Given the description of an element on the screen output the (x, y) to click on. 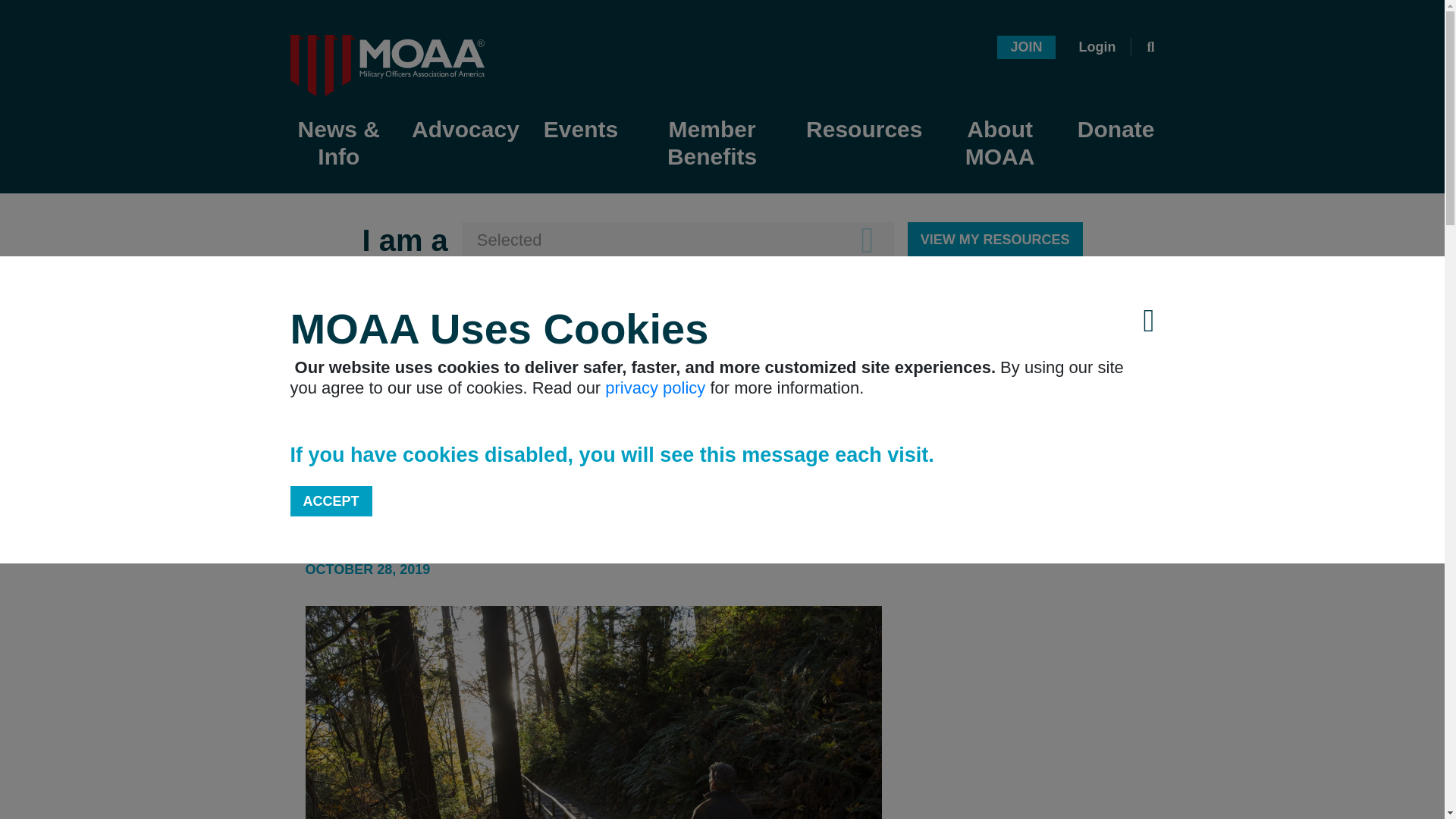
privacy policy (654, 386)
ACCEPT (330, 500)
3rd party ad content (1030, 816)
3rd party ad content (721, 378)
Member Benefits (711, 143)
Events (580, 130)
Login (1096, 46)
JOIN (1025, 46)
Advocacy (464, 130)
